Given the description of an element on the screen output the (x, y) to click on. 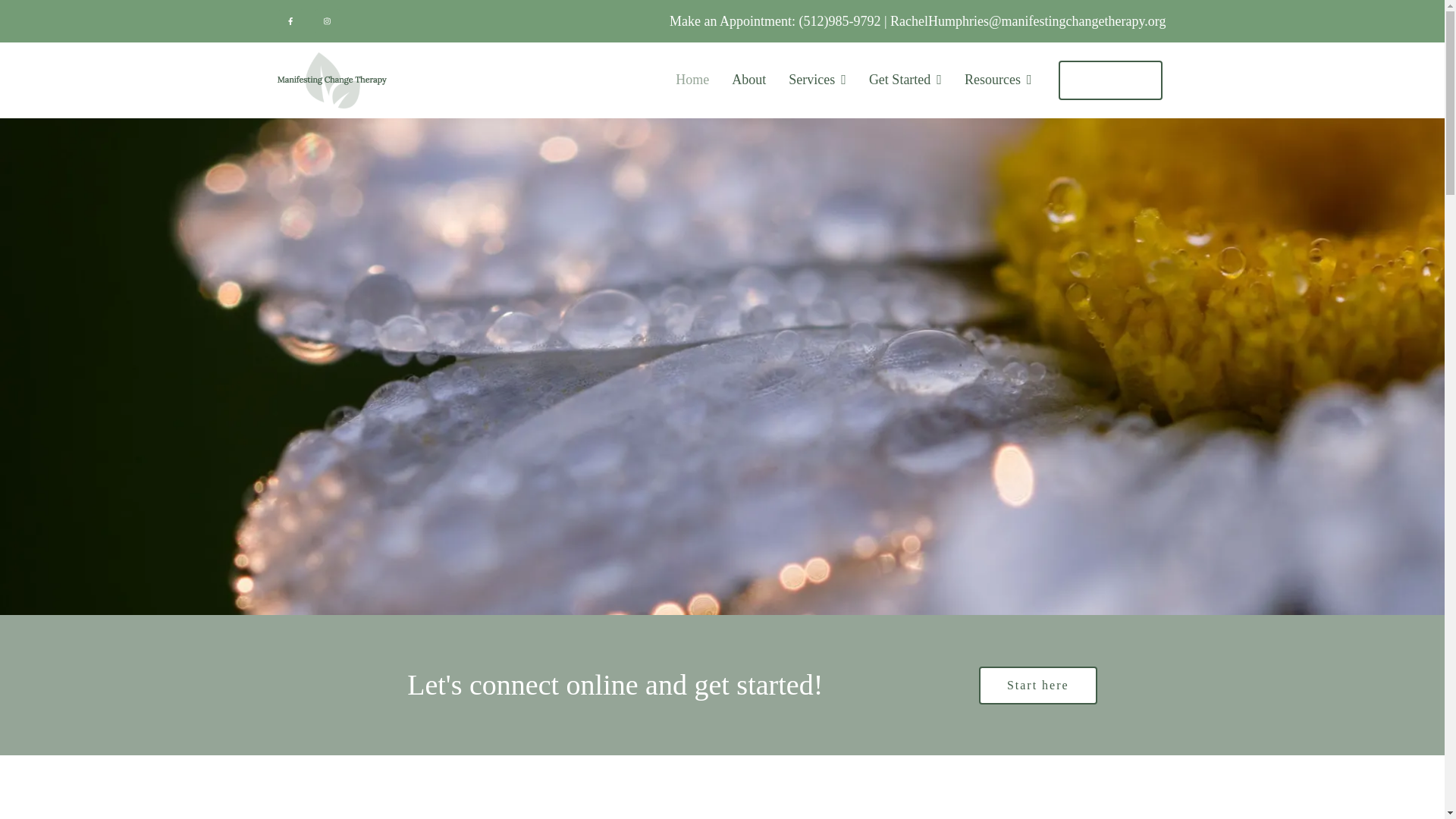
Services (817, 80)
Get Started (905, 80)
About (748, 80)
Resources (997, 80)
Contact (1109, 79)
Home (692, 80)
